Given the description of an element on the screen output the (x, y) to click on. 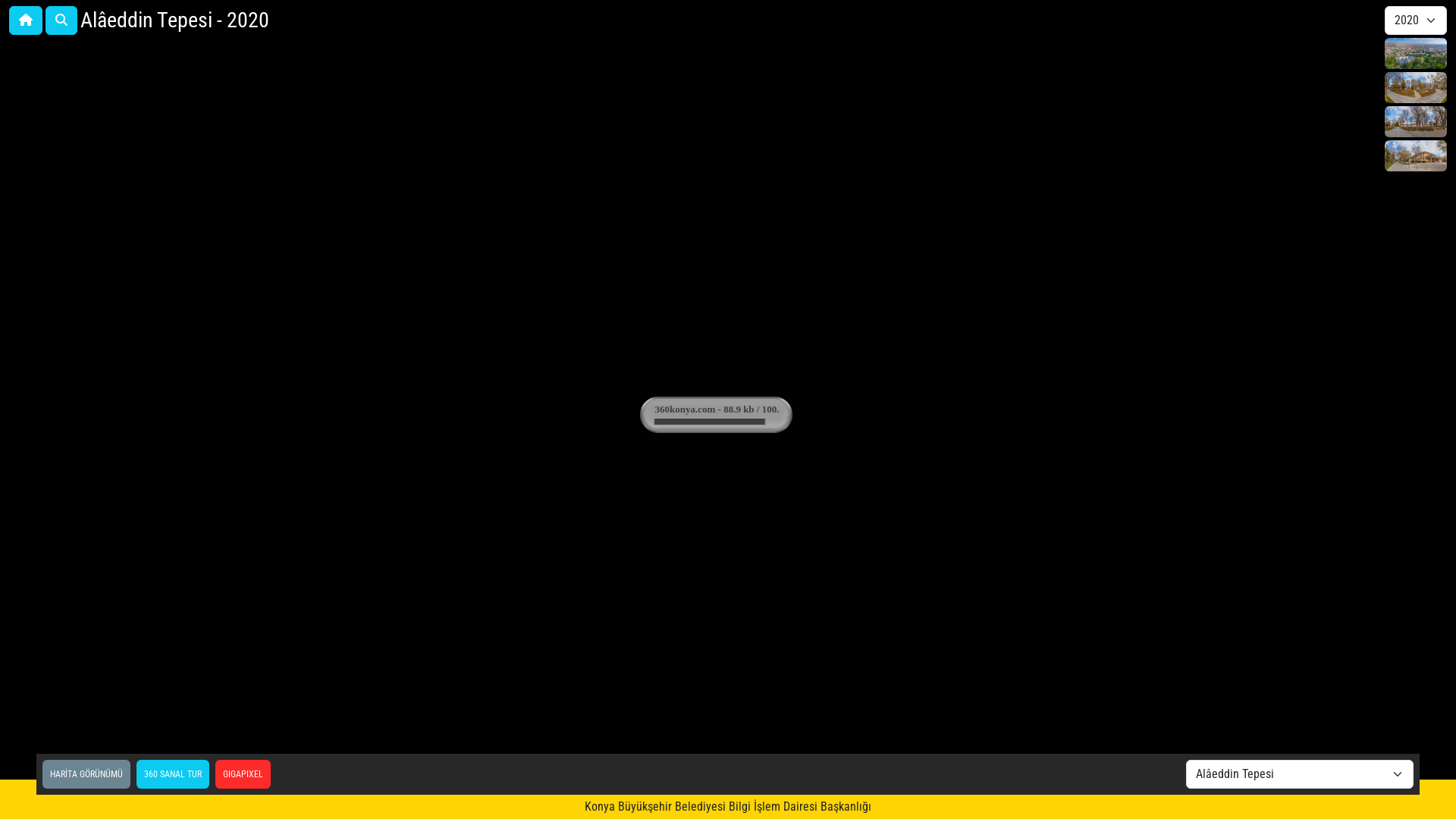
GIGAPIXEL Element type: text (242, 773)
Anasayfa Element type: hover (25, 20)
360 SANAL TUR Element type: text (172, 773)
Arama Element type: hover (61, 20)
